Given the description of an element on the screen output the (x, y) to click on. 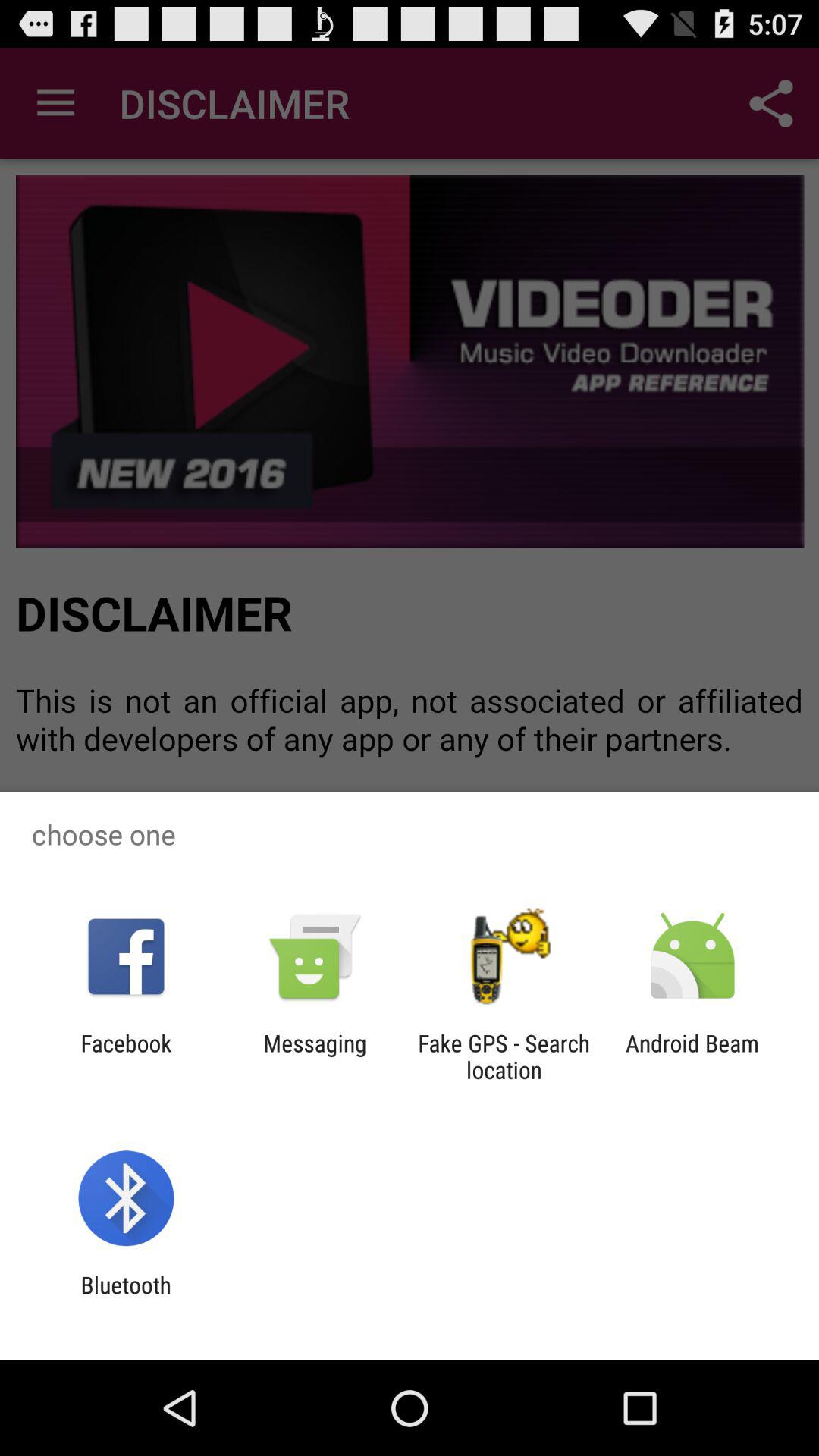
turn off the app to the left of the messaging icon (125, 1056)
